Given the description of an element on the screen output the (x, y) to click on. 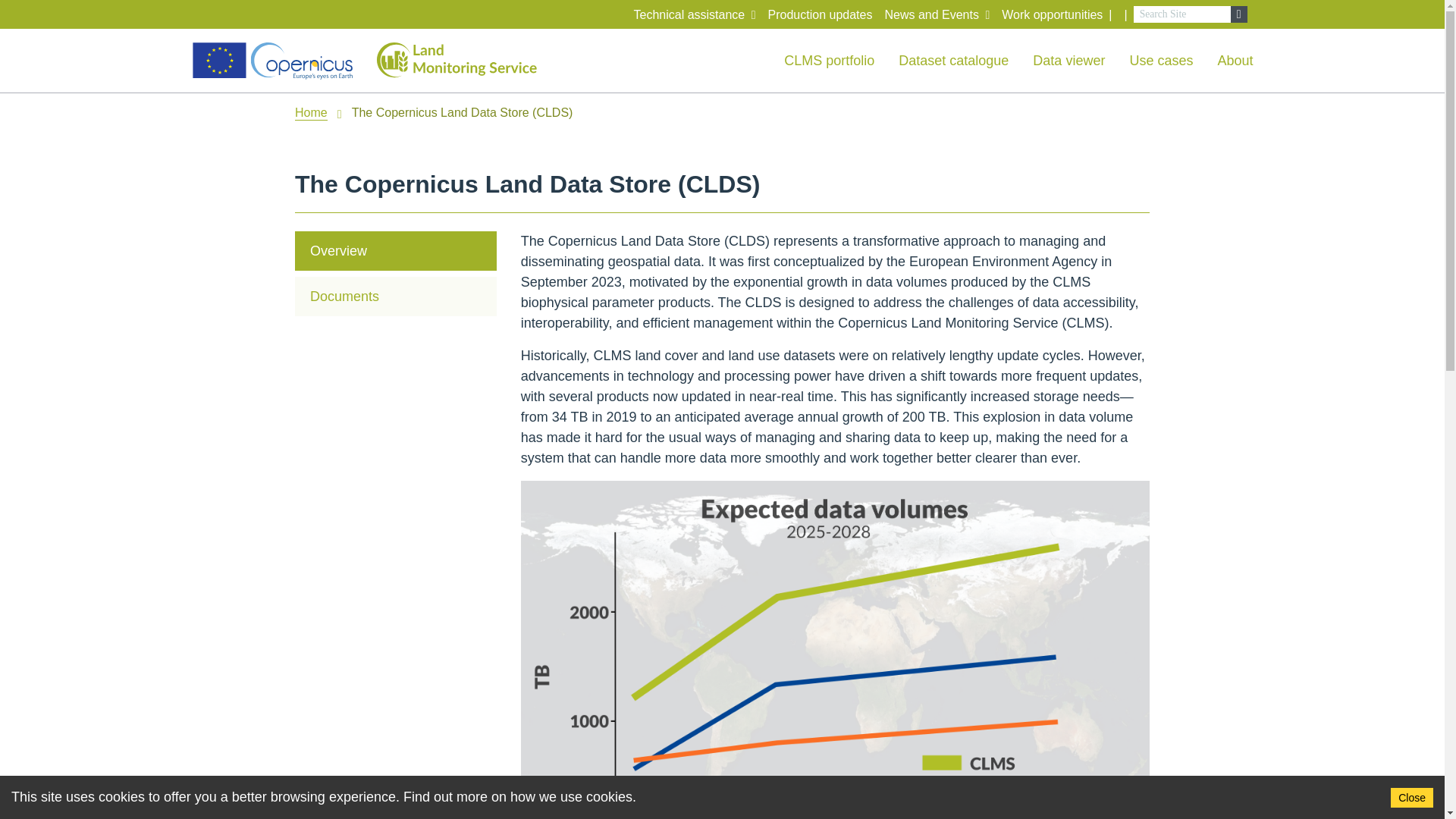
Production updates (820, 15)
Land Monitoring Service Site (460, 60)
About (1234, 61)
Copernicus Logo (271, 60)
CLMS portfolio (829, 61)
Documents (395, 296)
Use cases (1160, 61)
Home (311, 113)
Work opportunities (1051, 15)
Search (1182, 13)
Home (311, 113)
Dataset catalogue (953, 61)
Overview (395, 250)
Data viewer (1068, 61)
